Given the description of an element on the screen output the (x, y) to click on. 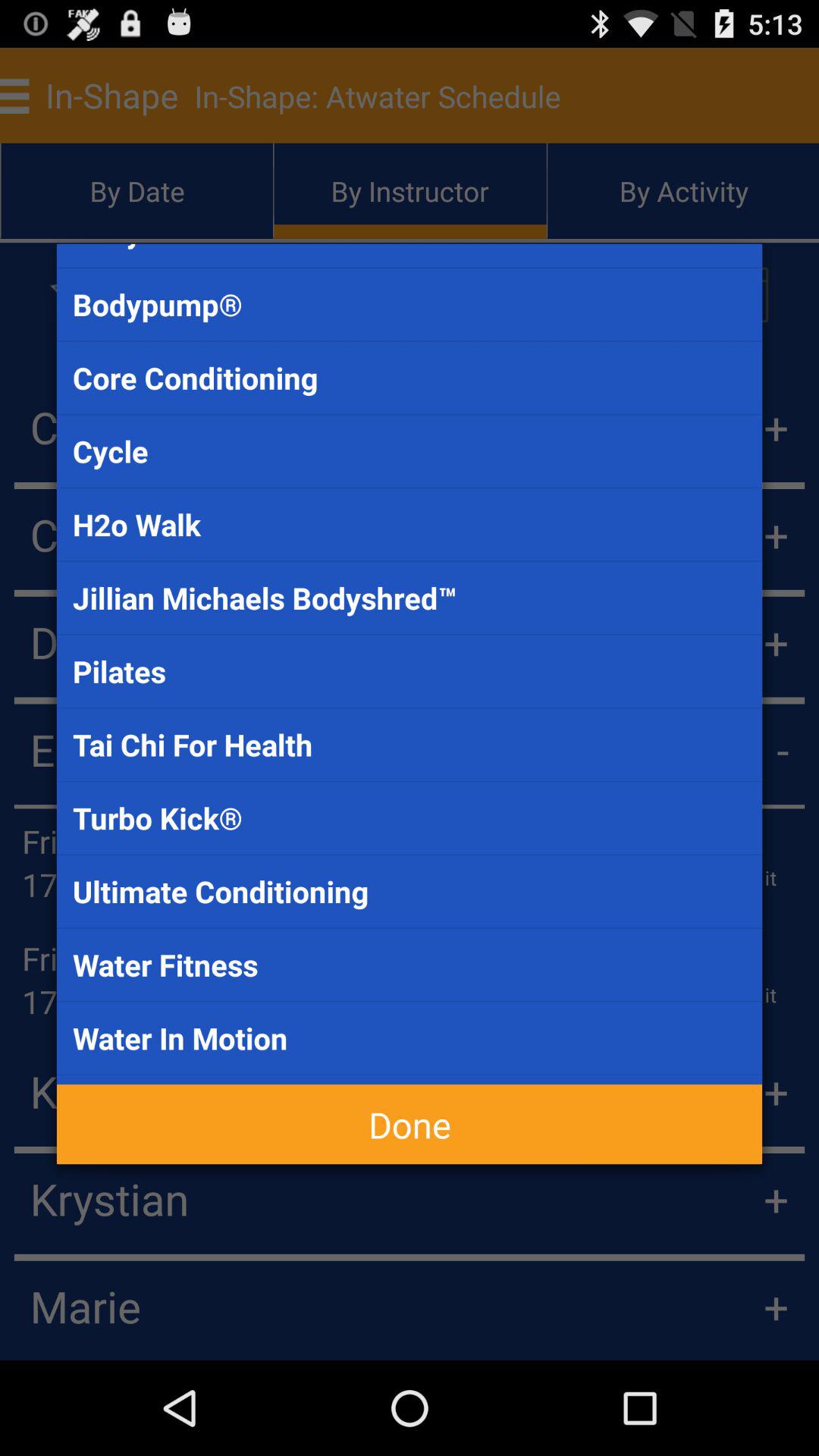
turn off the water fitness item (409, 964)
